Given the description of an element on the screen output the (x, y) to click on. 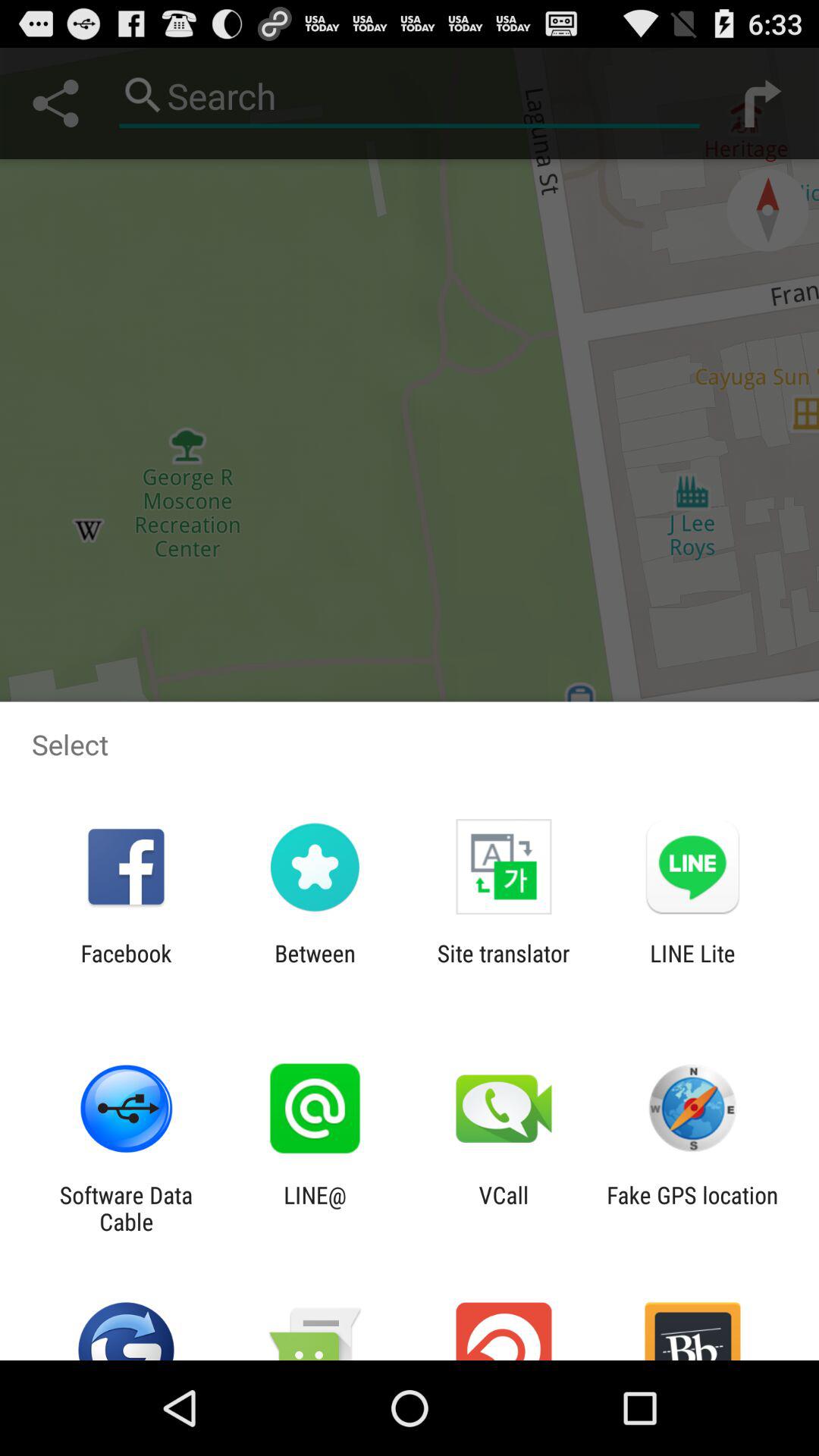
turn off icon to the left of the site translator app (314, 966)
